Given the description of an element on the screen output the (x, y) to click on. 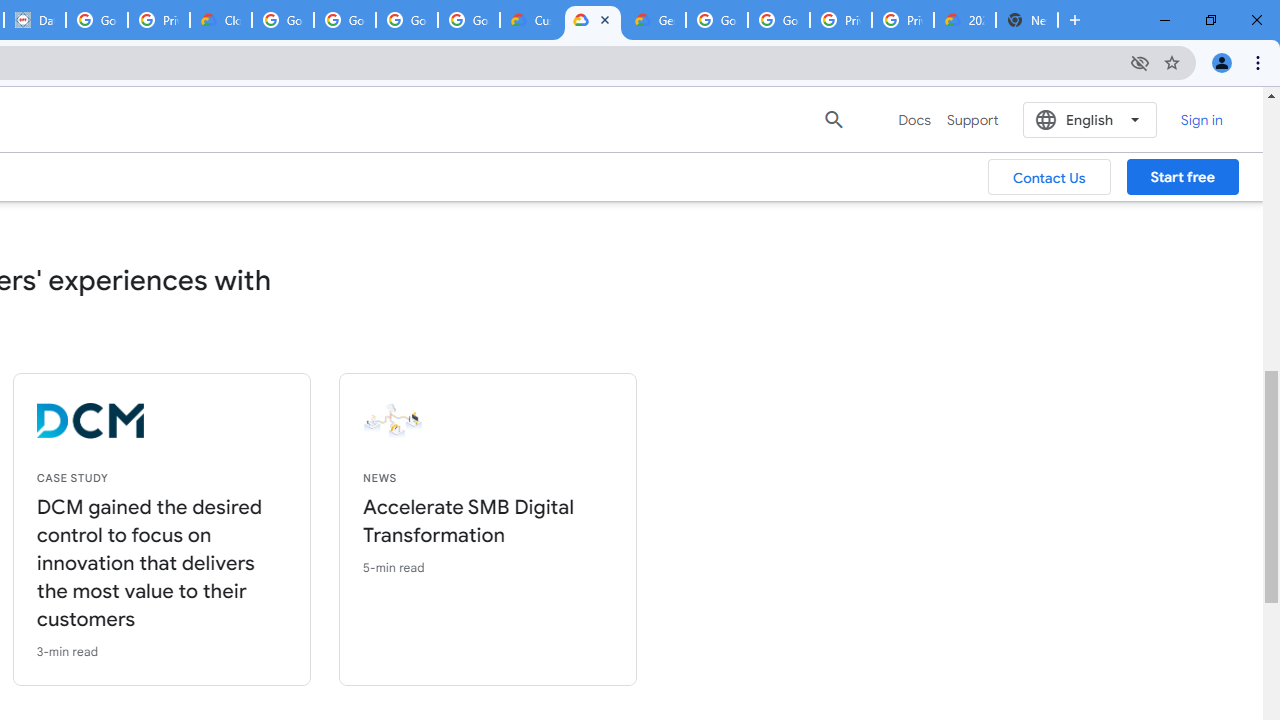
Google Cloud Platform (778, 20)
Contact Us (1049, 177)
New Tab (1026, 20)
employees connected through the cloud illustration (541, 421)
Google Workspace - Specific Terms (468, 20)
